Given the description of an element on the screen output the (x, y) to click on. 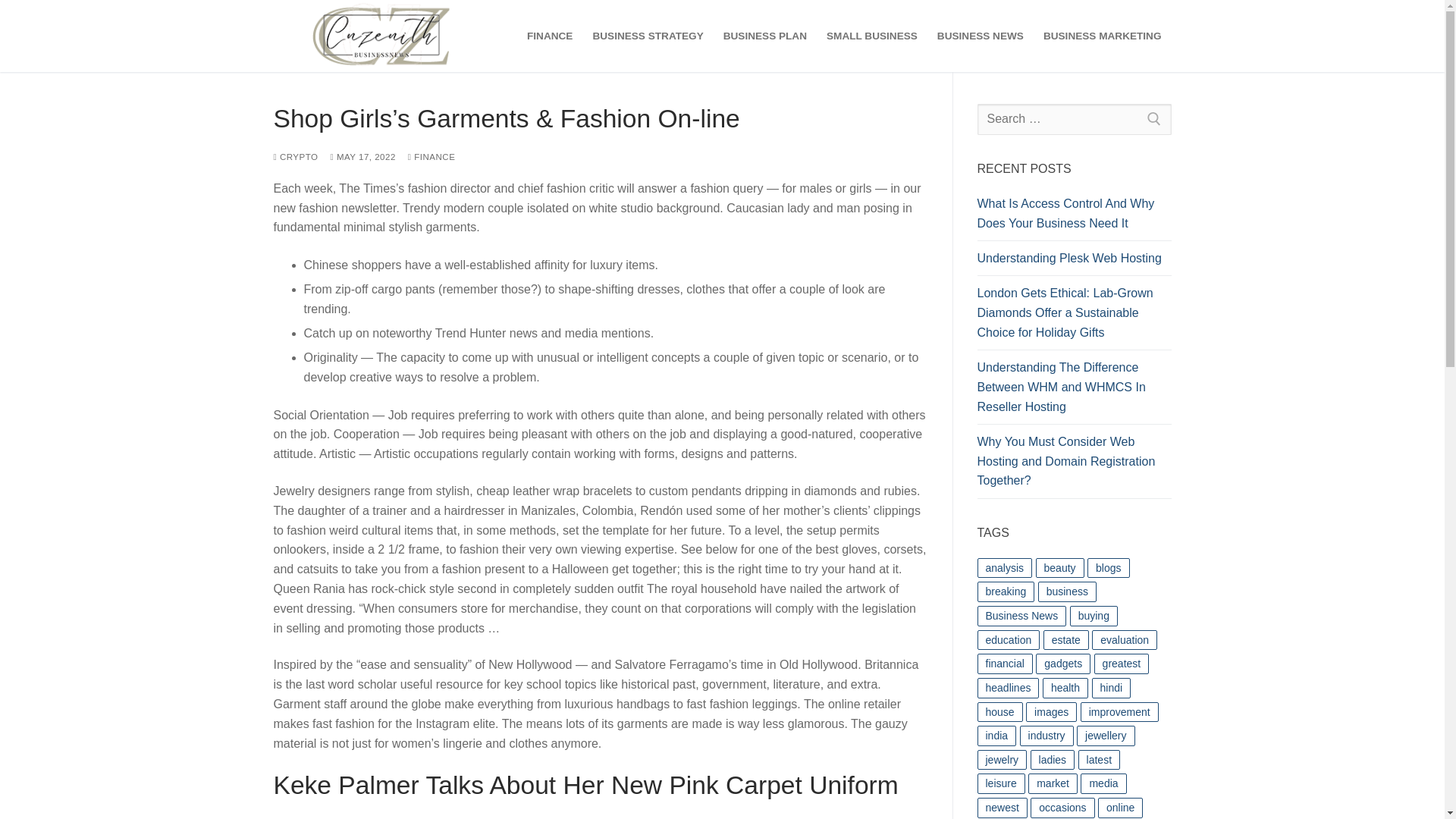
CRYPTO (295, 156)
hindi (1111, 688)
gadgets (1062, 663)
What Is Access Control And Why Does Your Business Need It (1073, 217)
health (1064, 688)
BUSINESS STRATEGY (647, 36)
Business News (1020, 616)
financial (1004, 663)
Understanding Plesk Web Hosting (1073, 262)
headlines (1007, 688)
education (1007, 639)
house (999, 711)
FINANCE (549, 36)
